Given the description of an element on the screen output the (x, y) to click on. 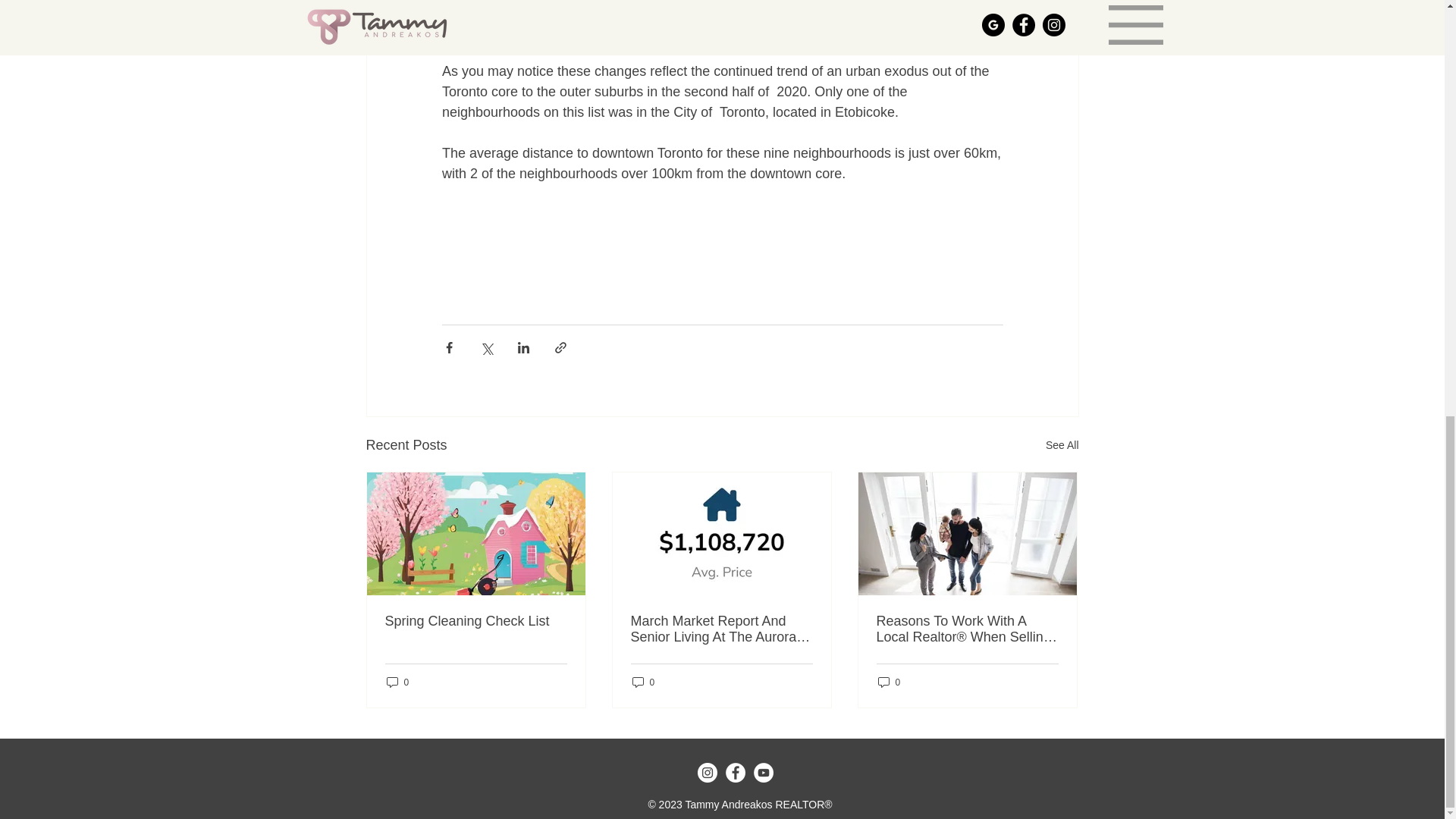
0 (397, 681)
0 (643, 681)
0 (889, 681)
Spring Cleaning Check List (476, 621)
See All (1061, 445)
March Market Report And Senior Living At The Aurora Meadows (721, 629)
